Given the description of an element on the screen output the (x, y) to click on. 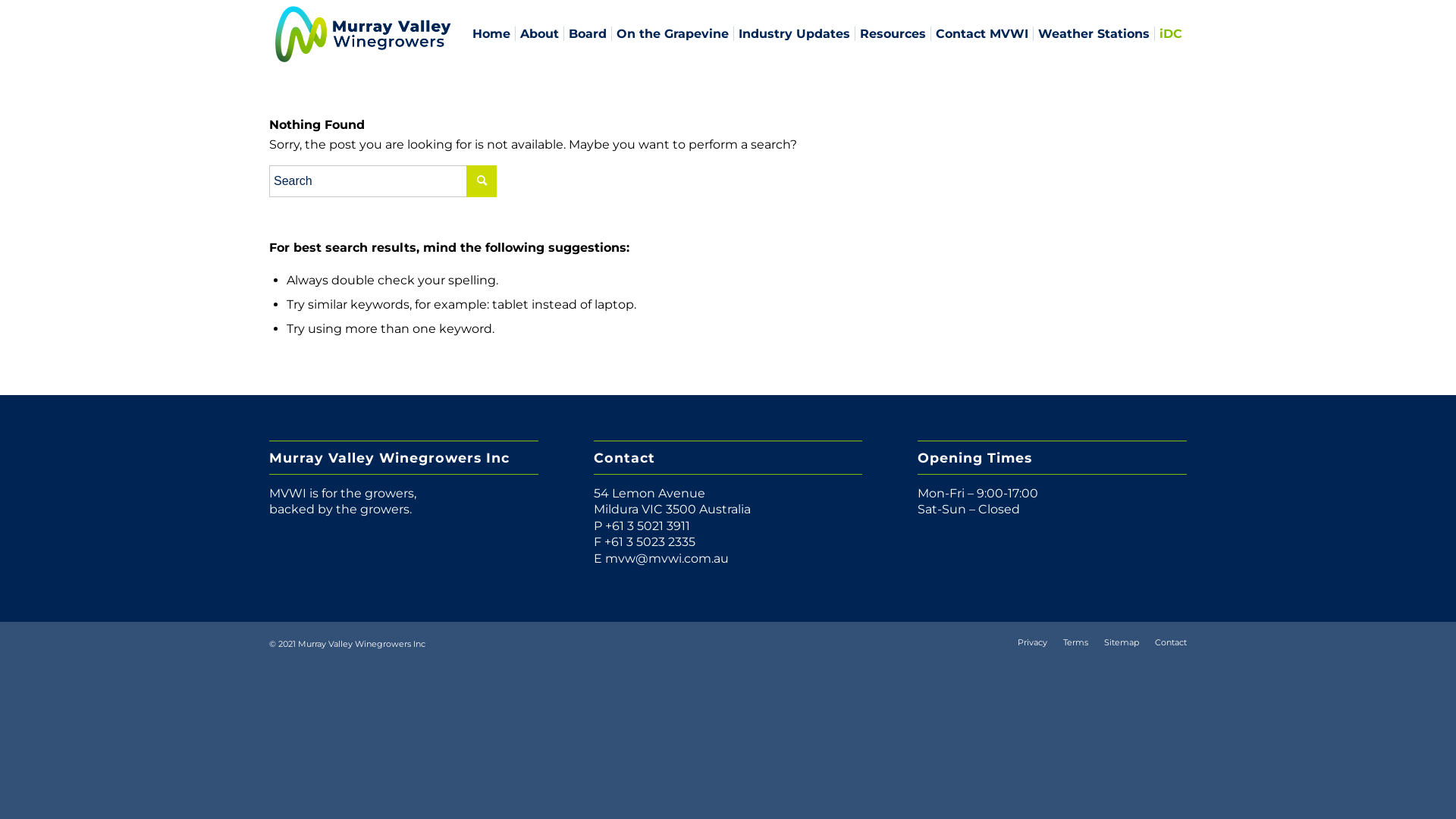
iDC Element type: text (1170, 34)
On the Grapevine Element type: text (672, 34)
Contact Element type: text (1170, 642)
Contact MVWI Element type: text (981, 34)
mvw@mvwi.com.au Element type: text (666, 558)
Privacy Element type: text (1032, 642)
Home Element type: text (490, 34)
Industry Updates Element type: text (793, 34)
About Element type: text (538, 34)
Resources Element type: text (892, 34)
Terms Element type: text (1075, 642)
Sitemap Element type: text (1121, 642)
Weather Stations Element type: text (1093, 34)
+61 3 5021 3911 Element type: text (647, 525)
Board Element type: text (587, 34)
